Given the description of an element on the screen output the (x, y) to click on. 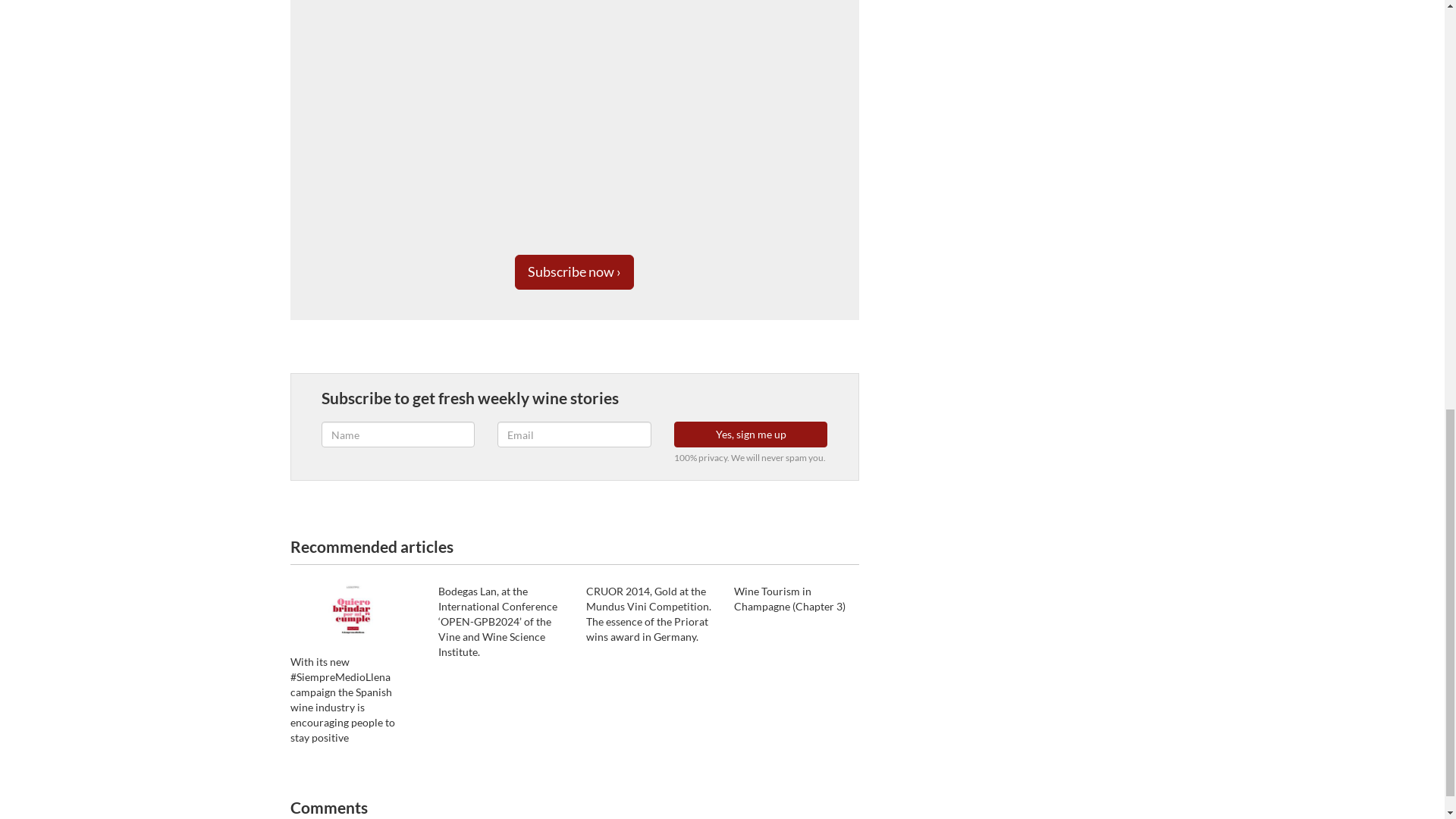
Yes, sign me up (751, 434)
